Given the description of an element on the screen output the (x, y) to click on. 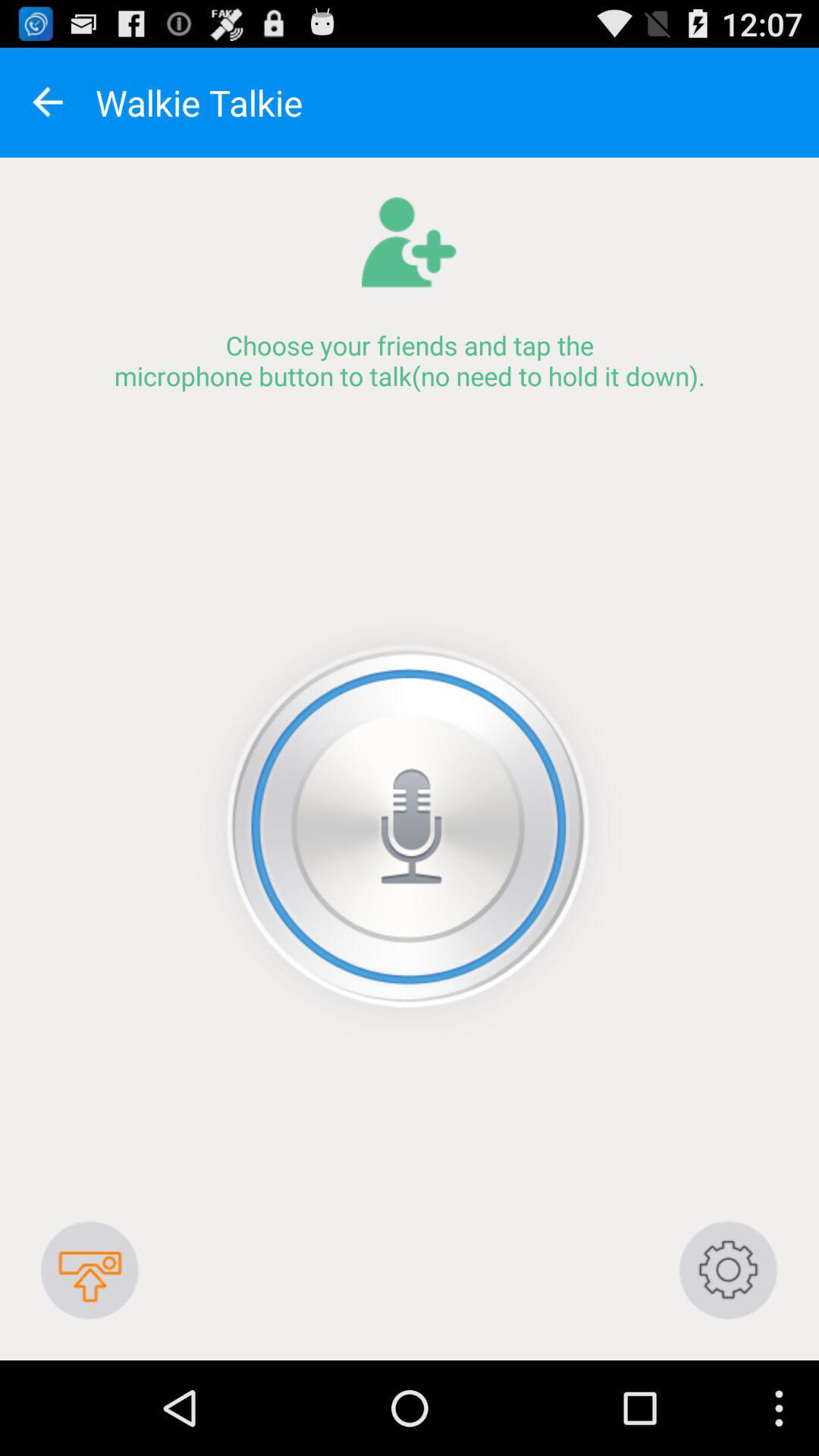
record voice (408, 826)
